Given the description of an element on the screen output the (x, y) to click on. 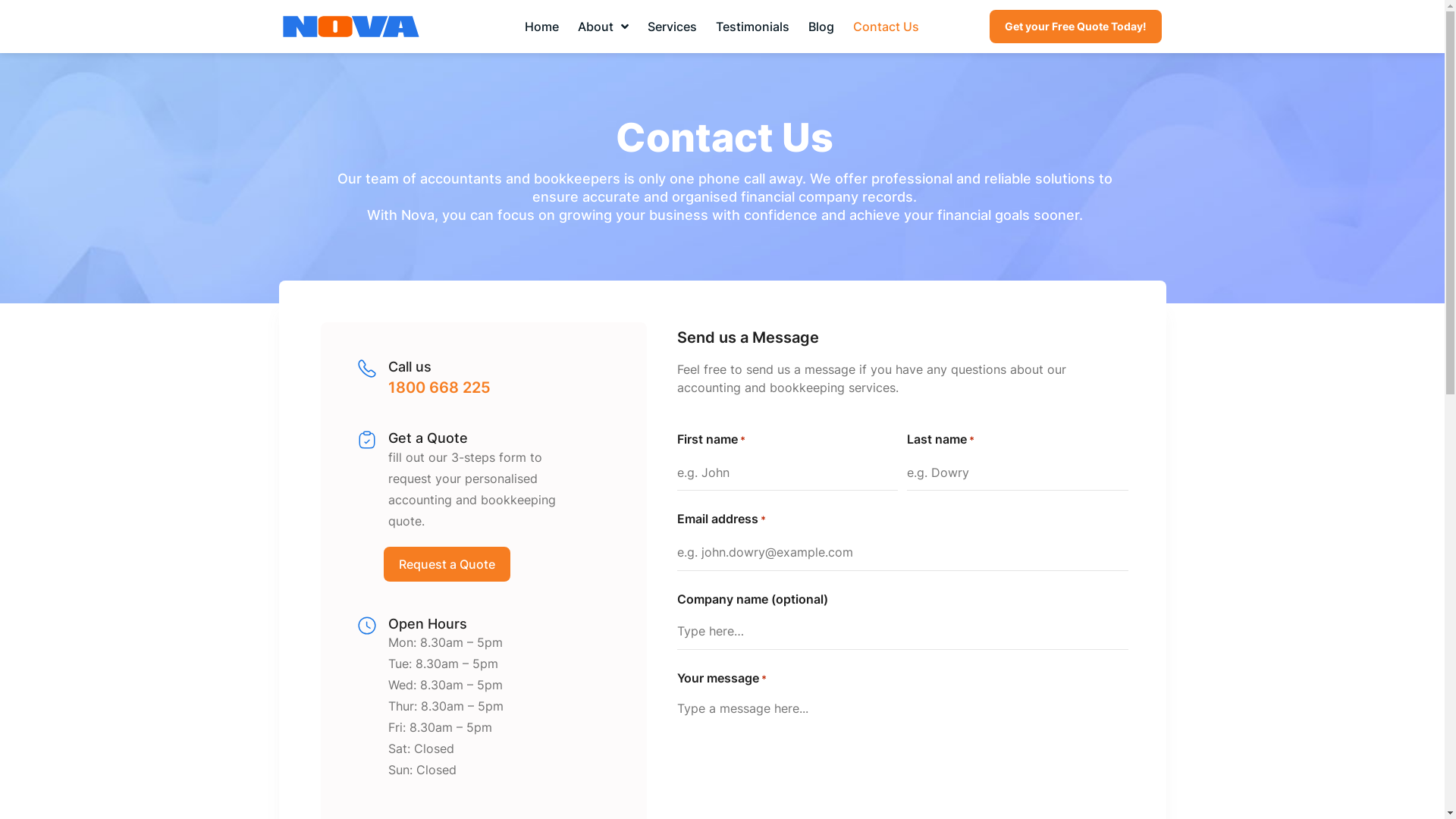
Blog Element type: text (820, 26)
Contact Us Element type: text (885, 26)
Testimonials Element type: text (752, 26)
Home Element type: text (541, 26)
Services Element type: text (672, 26)
Get your Free Quote Today! Element type: text (1075, 26)
About Element type: text (603, 26)
Request a Quote Element type: text (446, 563)
1800 668 225 Element type: text (439, 387)
